Given the description of an element on the screen output the (x, y) to click on. 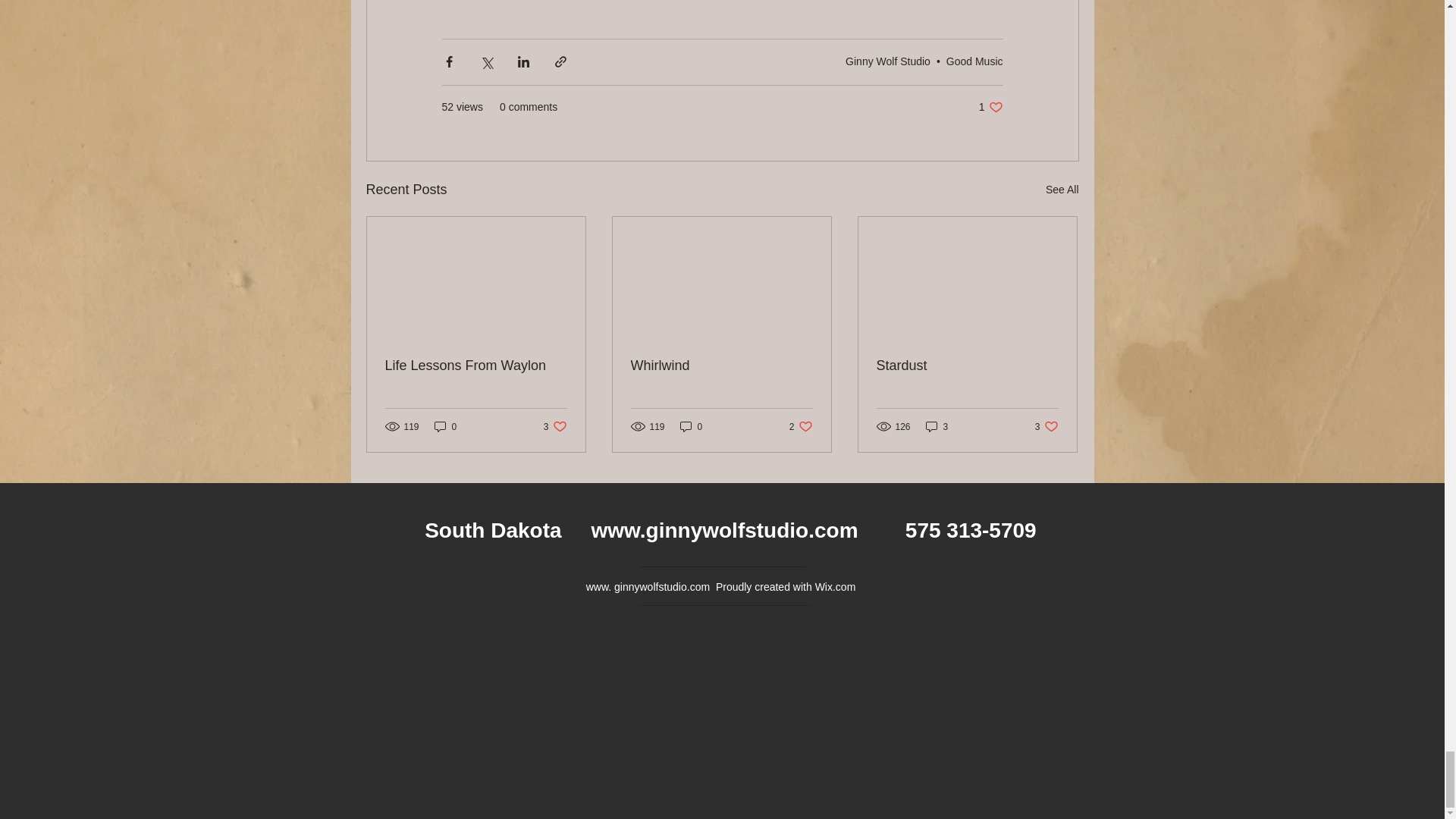
Good Music (990, 106)
Life Lessons From Waylon (555, 426)
0 (974, 61)
Ginny Wolf Studio (476, 365)
See All (445, 426)
